Given the description of an element on the screen output the (x, y) to click on. 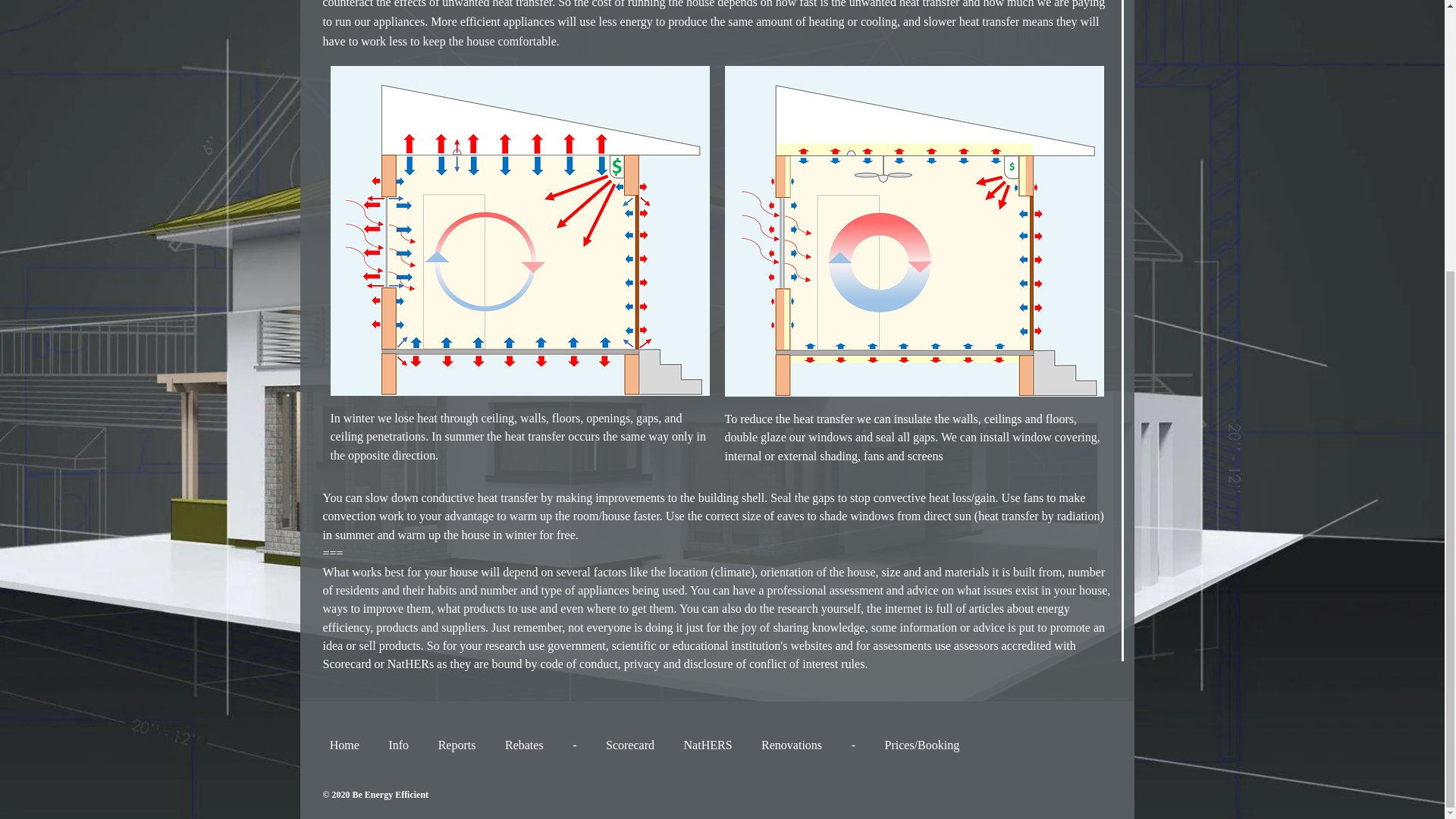
Home (344, 745)
- (852, 745)
NatHERS (707, 745)
Scorecard (630, 745)
Renovations (791, 745)
- (574, 745)
Reports (456, 745)
Rebates (523, 745)
Info (398, 745)
